Given the description of an element on the screen output the (x, y) to click on. 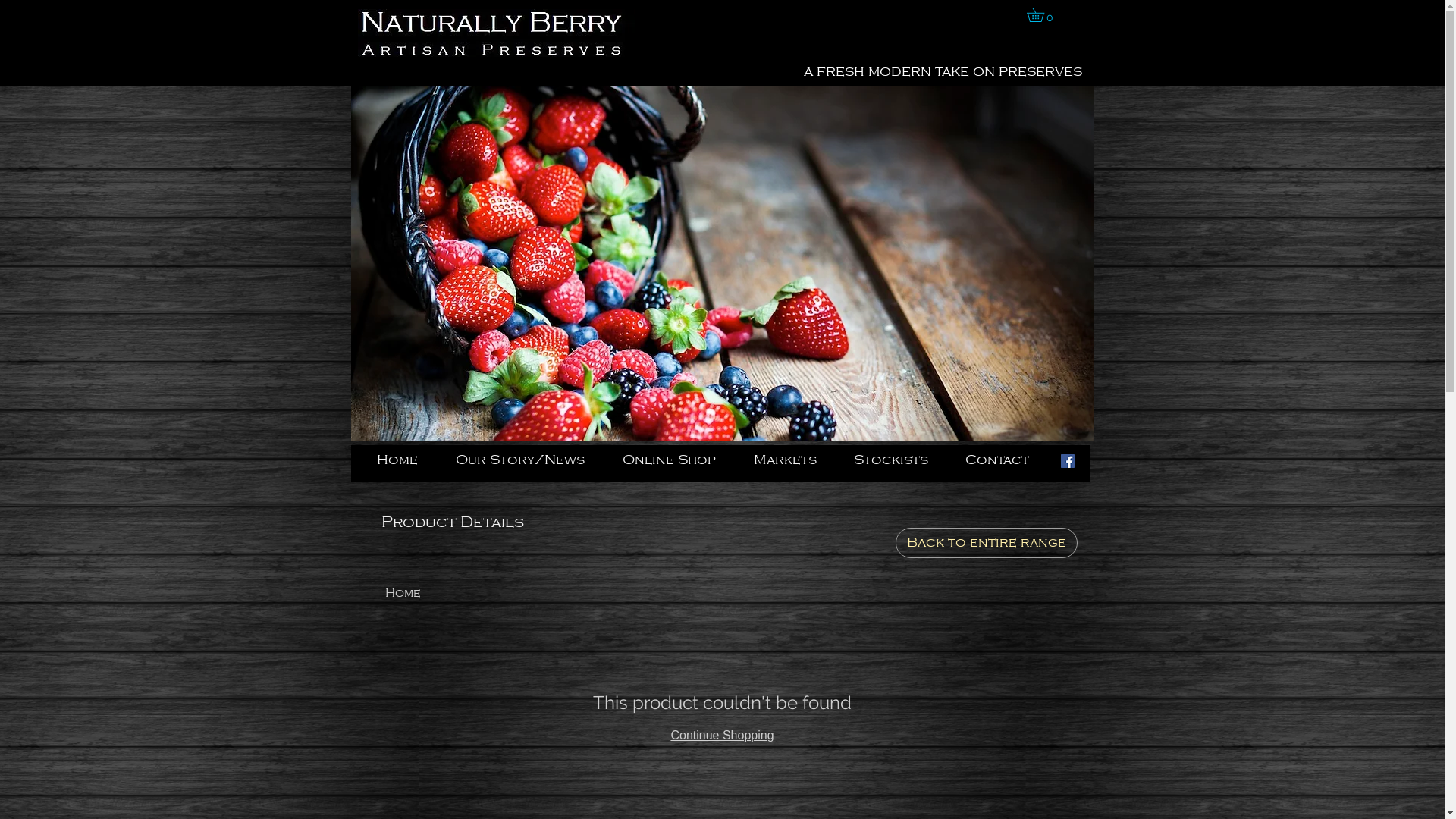
Home Element type: text (402, 592)
Continue Shopping Element type: text (721, 734)
Online Shop Element type: text (676, 459)
Contact Element type: text (1003, 459)
Back to entire range Element type: text (985, 542)
Stockists Element type: text (897, 459)
0 Element type: text (1041, 14)
Markets Element type: text (791, 459)
Our Story/News Element type: text (527, 459)
Home Element type: text (404, 459)
